Given the description of an element on the screen output the (x, y) to click on. 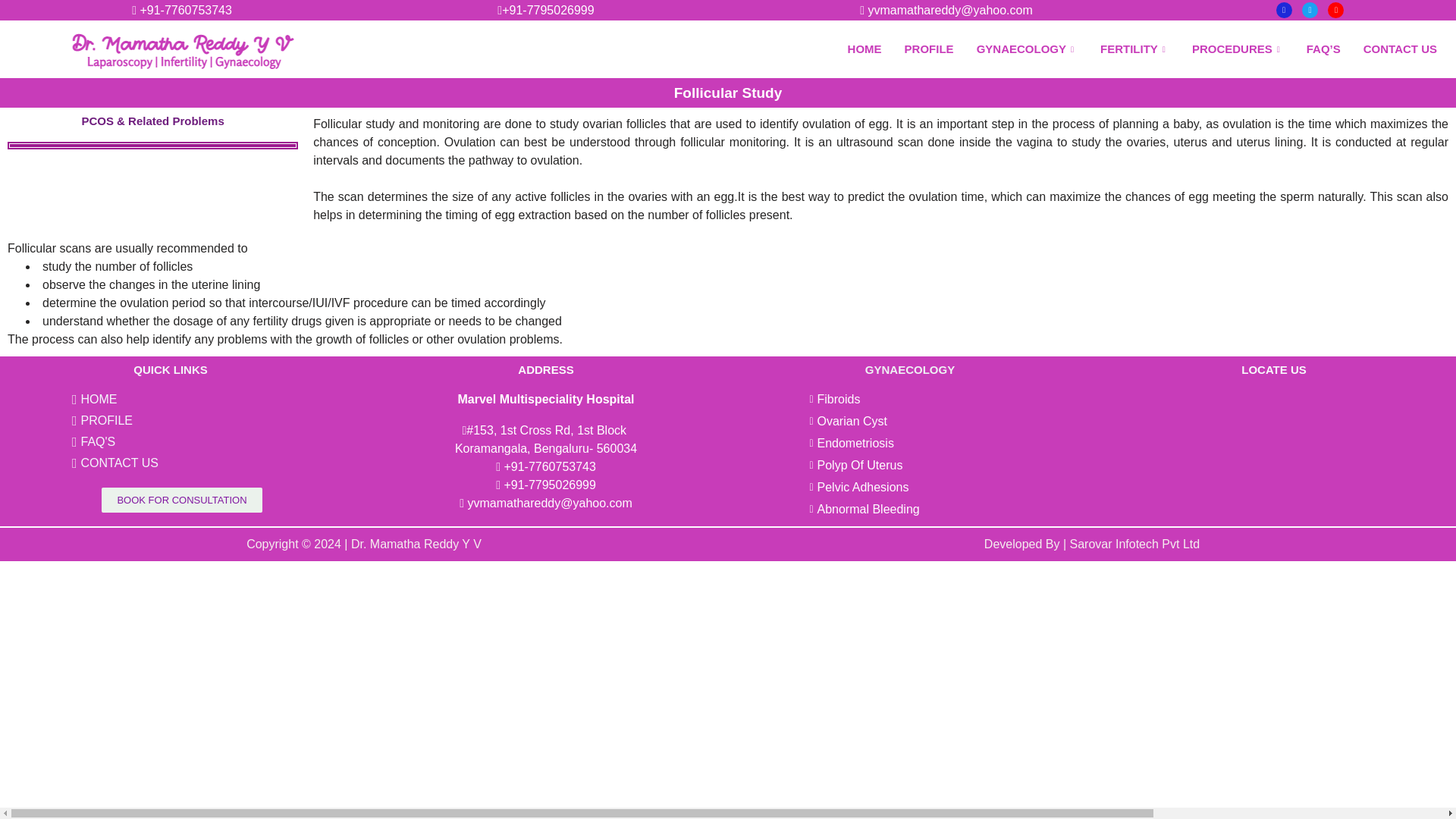
HOME (864, 48)
PROCEDURES (1237, 48)
FERTILITY (1134, 48)
GYNAECOLOGY (1027, 48)
PROFILE (929, 48)
